Given the description of an element on the screen output the (x, y) to click on. 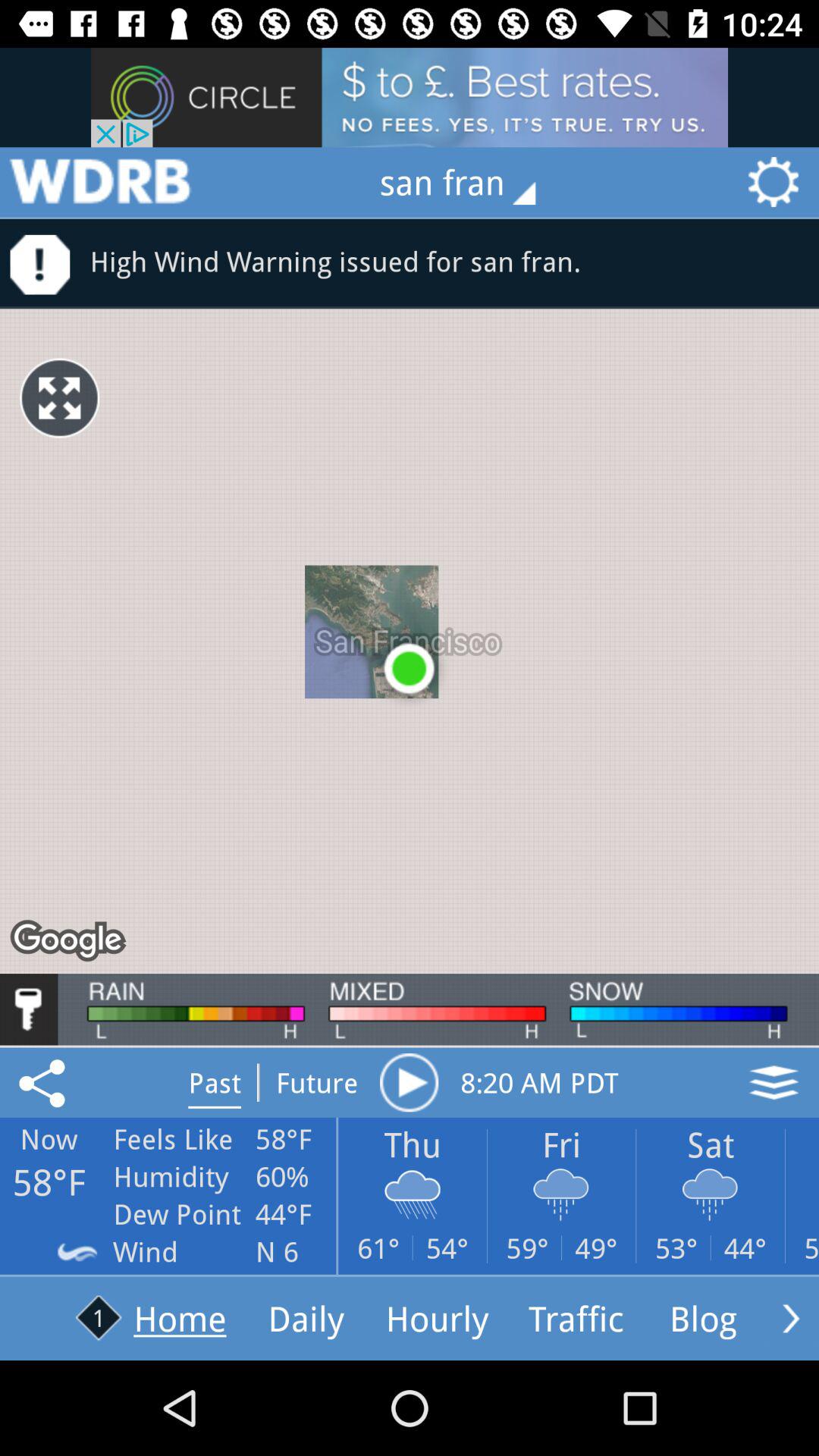
go to blog (791, 1318)
